Given the description of an element on the screen output the (x, y) to click on. 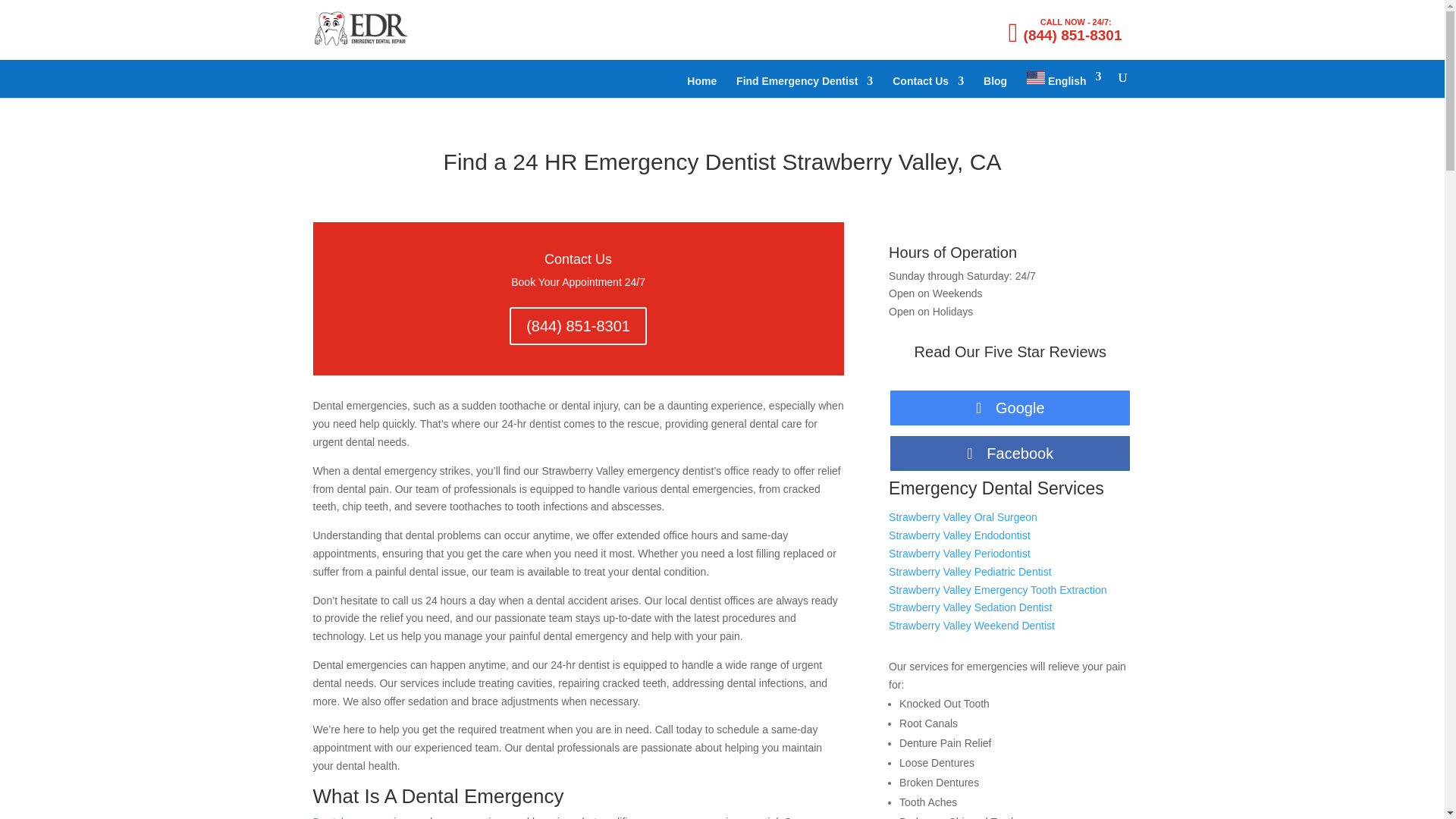
Blog (995, 86)
Find Emergency Dentist (804, 86)
Home (701, 86)
English (1063, 84)
Contact Us (927, 86)
